Given the description of an element on the screen output the (x, y) to click on. 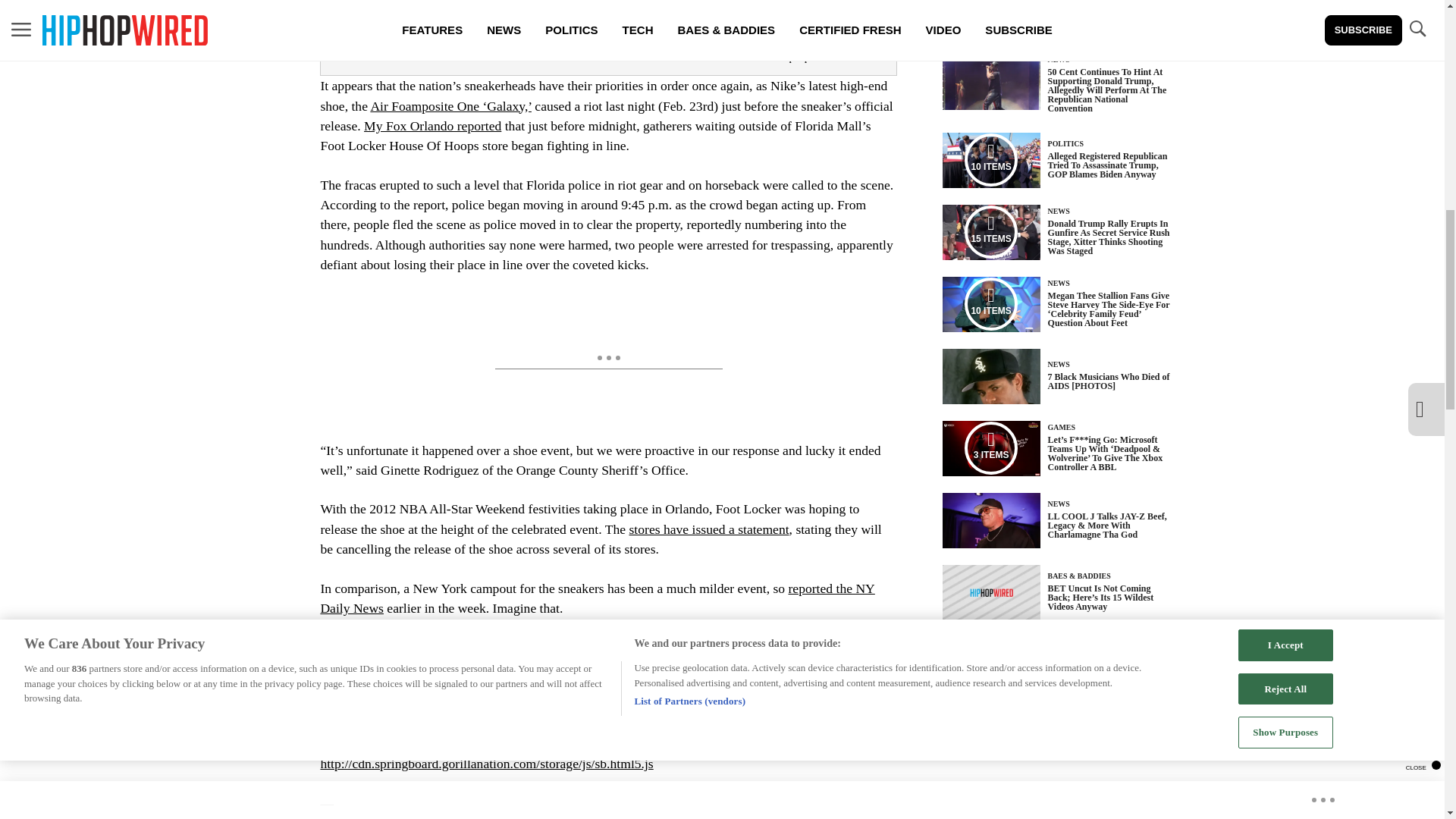
Media Playlist (990, 231)
stores have issued a statement (708, 529)
Media Playlist (990, 159)
Media Playlist (990, 448)
NEWS (1059, 59)
Media Playlist (990, 303)
My Fox Orlando reported (432, 125)
reported the NY Daily News (597, 597)
